Given the description of an element on the screen output the (x, y) to click on. 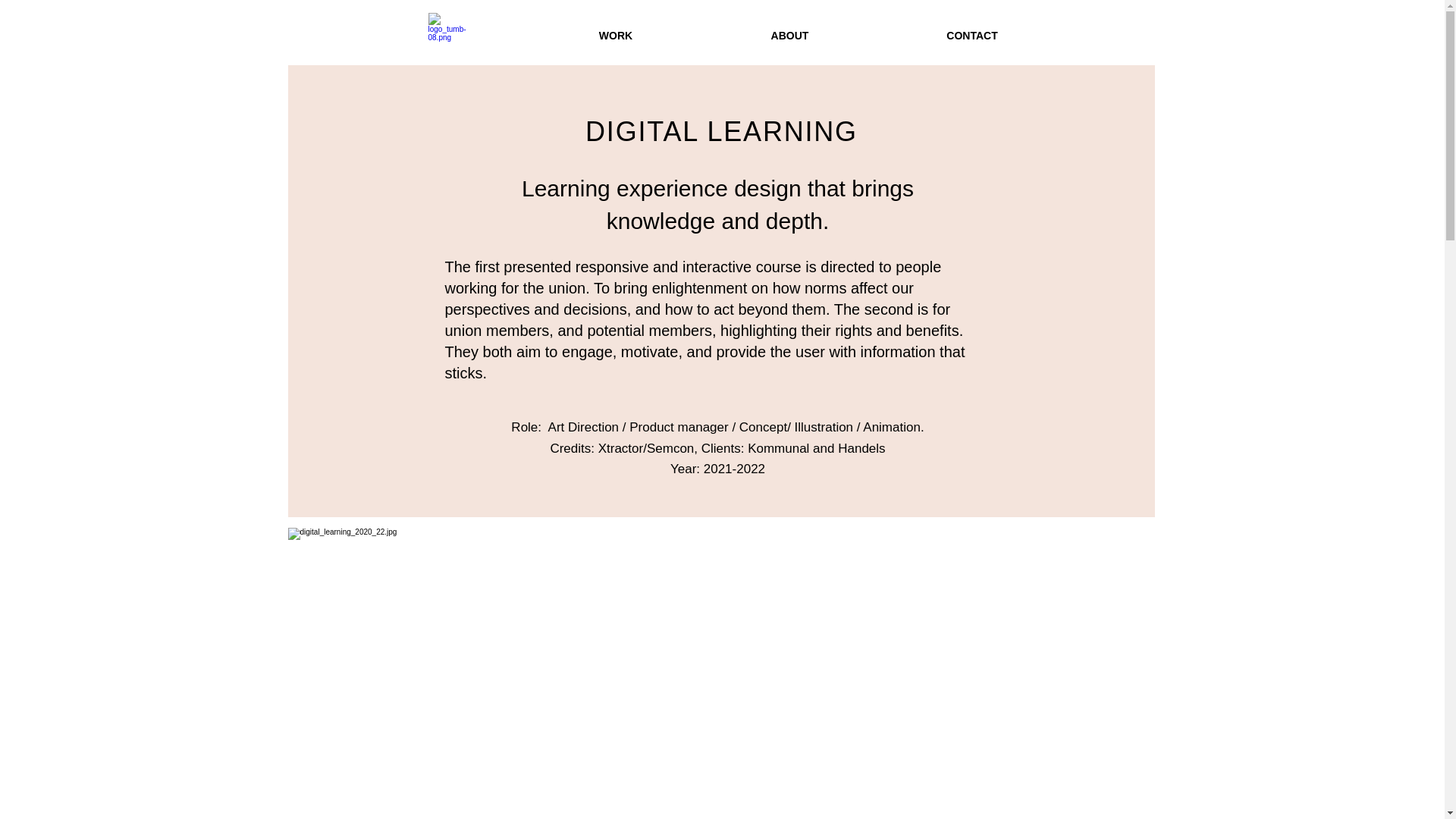
CONTACT (972, 35)
ABOUT (789, 35)
WORK (615, 35)
